Given the description of an element on the screen output the (x, y) to click on. 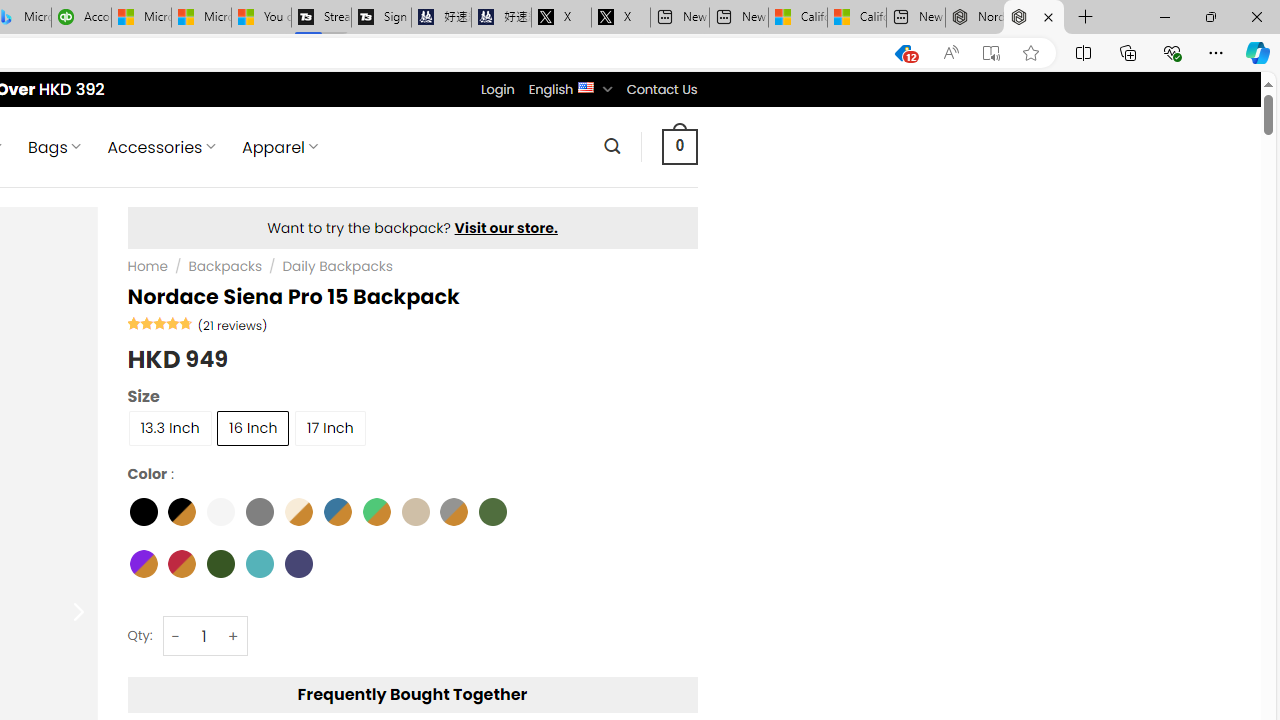
Enter Immersive Reader (F9) (991, 53)
Nordace Siena Pro 15 Backpack (1033, 17)
Restore (1210, 16)
Accounting Software for Accountants, CPAs and Bookkeepers (81, 17)
Visit our store. (506, 228)
17 Inch (329, 426)
Microsoft Start Sports (141, 17)
Split screen (1083, 52)
  0   (679, 146)
Settings and more (Alt+F) (1215, 52)
Copilot (Ctrl+Shift+.) (1258, 52)
